Given the description of an element on the screen output the (x, y) to click on. 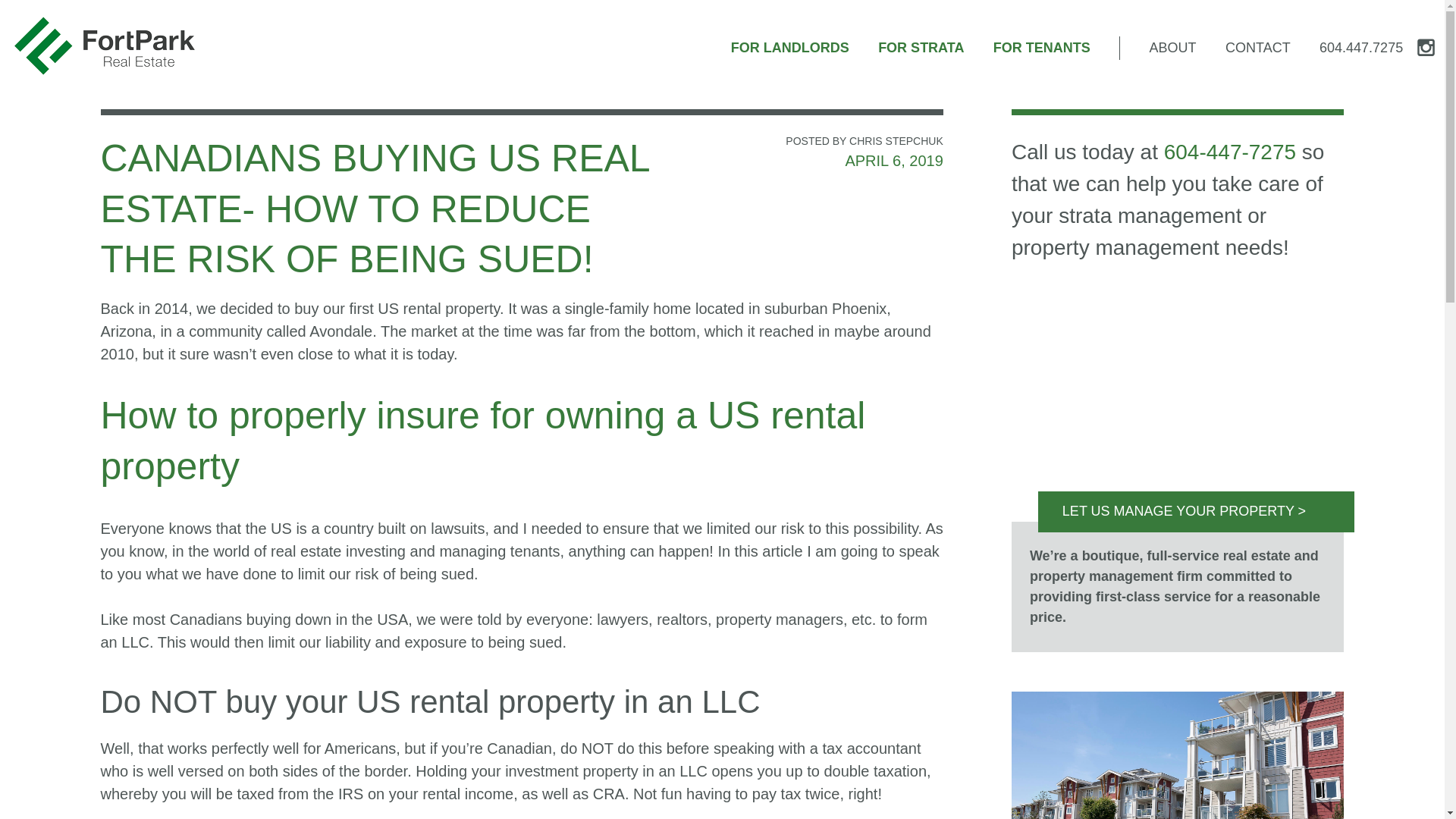
FOR TENANTS (1041, 47)
CONTACT (1257, 47)
FOR LANDLORDS (789, 47)
FOR STRATA (920, 47)
604-447-7275 (1229, 151)
ABOUT (1173, 47)
604.447.7275 (1361, 47)
